Given the description of an element on the screen output the (x, y) to click on. 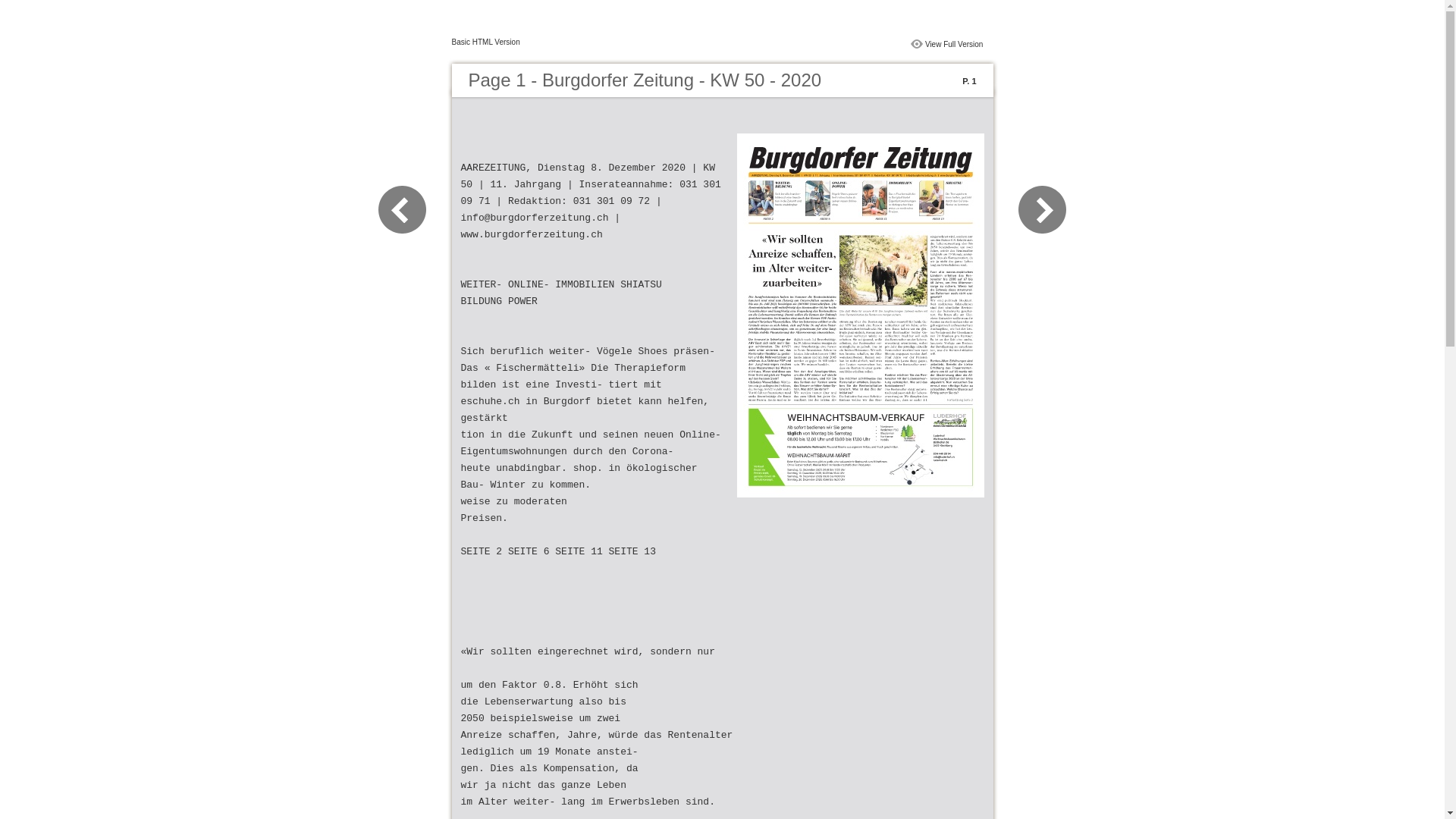
View Full Version Element type: text (954, 43)
